Given the description of an element on the screen output the (x, y) to click on. 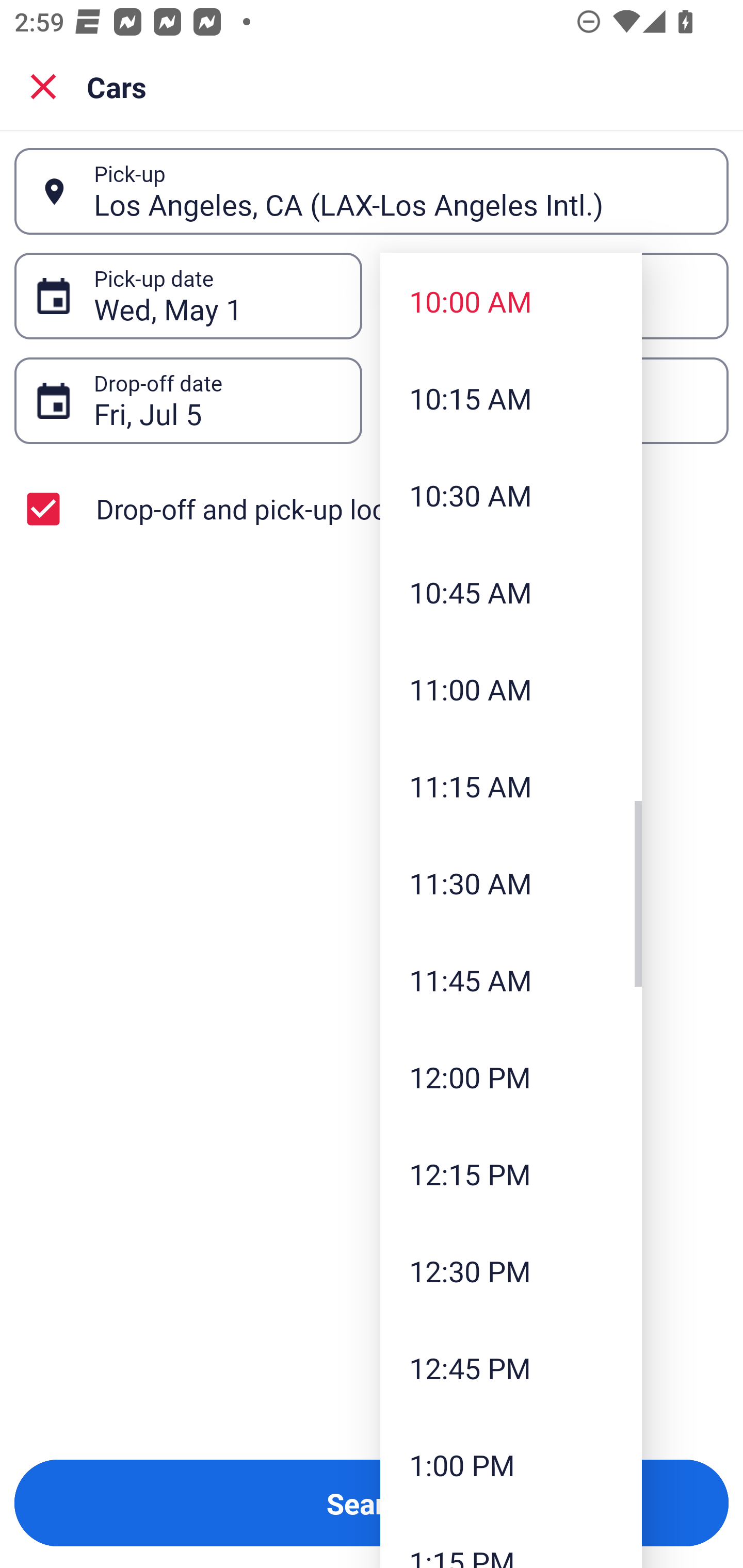
10:00 AM (510, 300)
10:15 AM (510, 397)
10:30 AM (510, 495)
10:45 AM (510, 592)
11:00 AM (510, 688)
11:15 AM (510, 785)
11:30 AM (510, 882)
11:45 AM (510, 979)
12:00 PM (510, 1076)
12:15 PM (510, 1174)
12:30 PM (510, 1270)
12:45 PM (510, 1366)
1:00 PM (510, 1464)
